Given the description of an element on the screen output the (x, y) to click on. 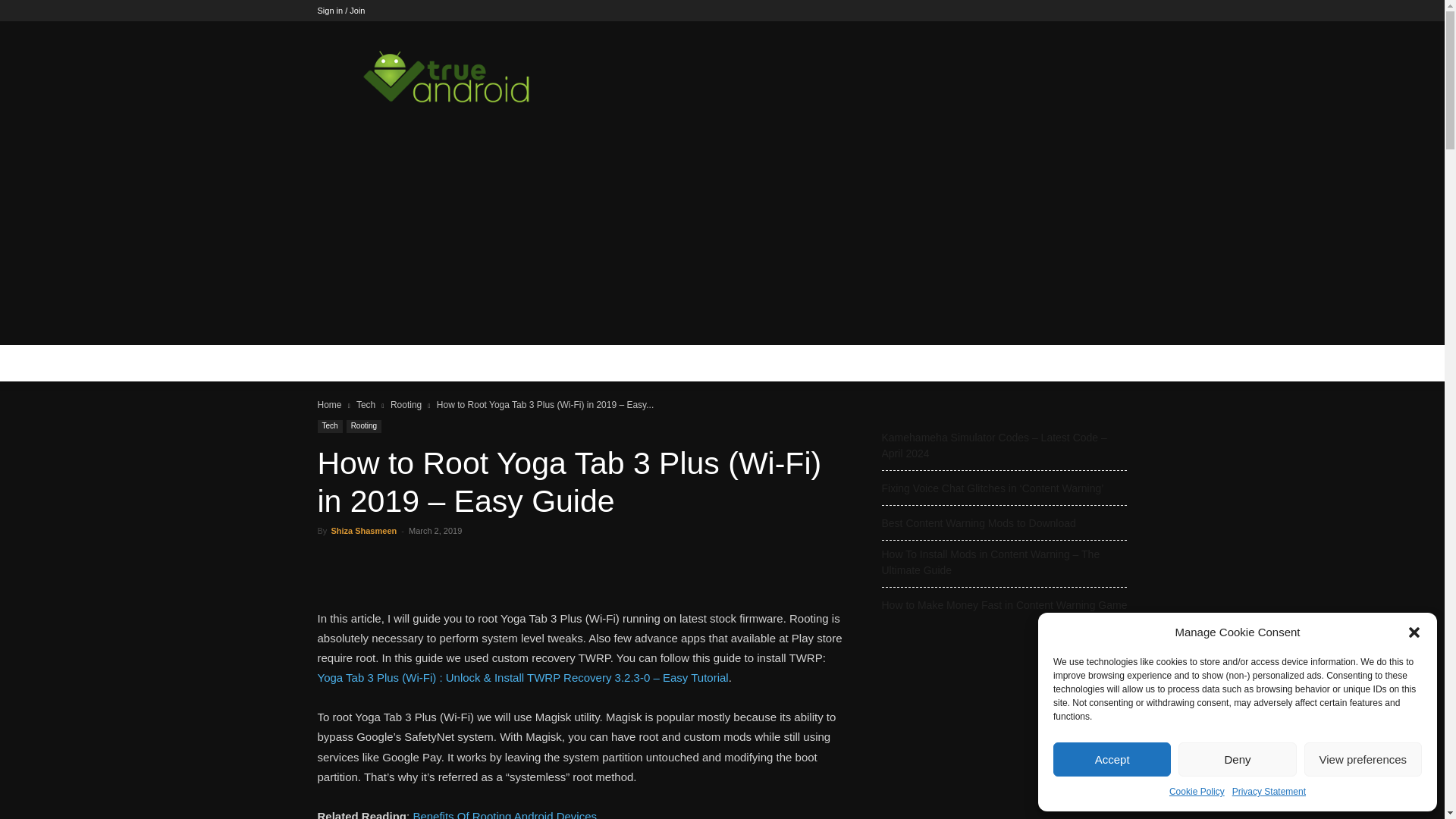
HOME (343, 362)
View all posts in Rooting (406, 404)
GADGETS (521, 362)
View preferences (1363, 759)
Accept (1111, 759)
Deny (1236, 759)
OFFBEAT (600, 362)
View all posts in Tech (365, 404)
GAMING (453, 362)
Privacy Statement (1268, 791)
